Given the description of an element on the screen output the (x, y) to click on. 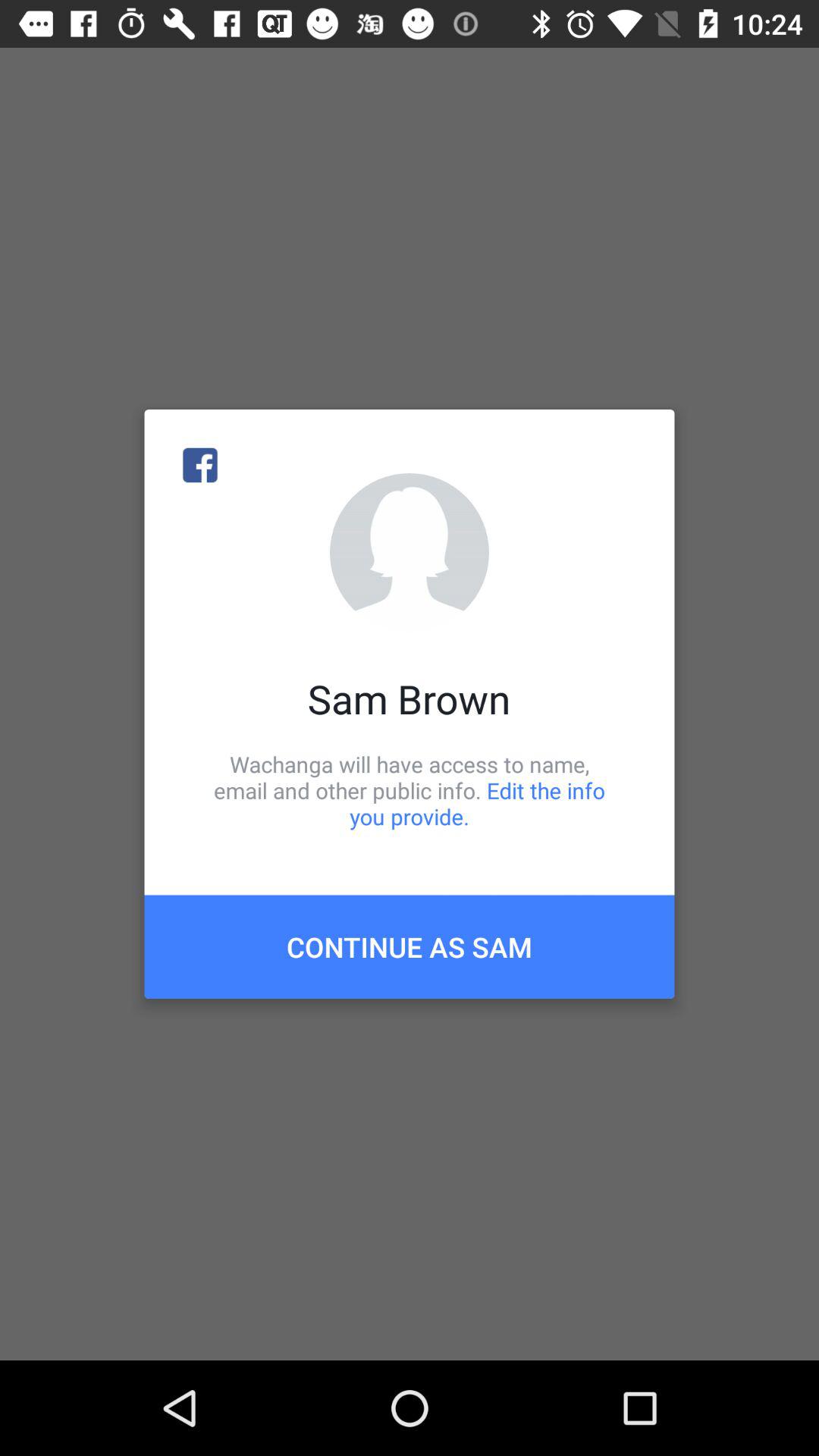
choose continue as sam item (409, 946)
